Given the description of an element on the screen output the (x, y) to click on. 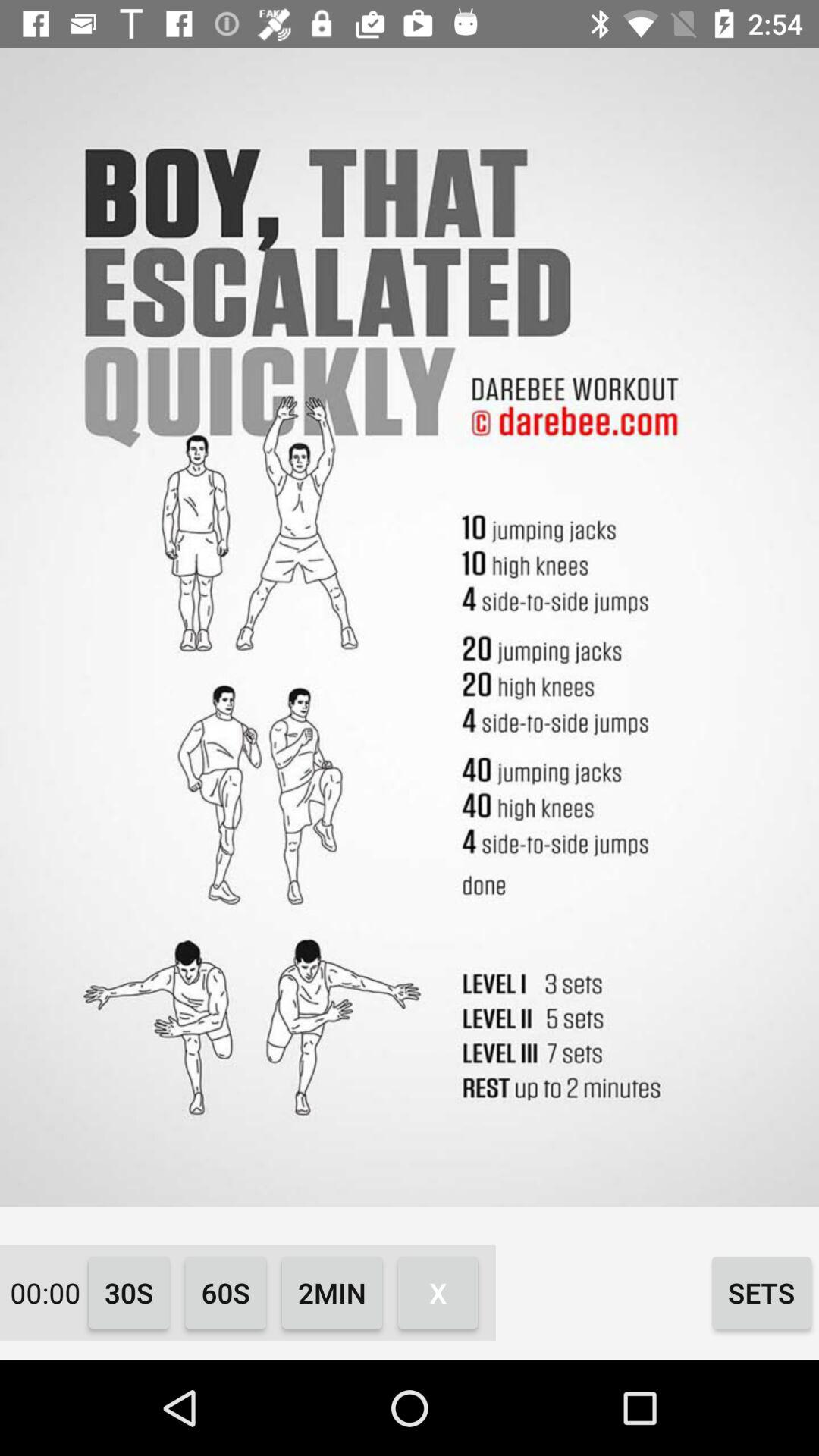
flip to the 2min icon (332, 1292)
